Given the description of an element on the screen output the (x, y) to click on. 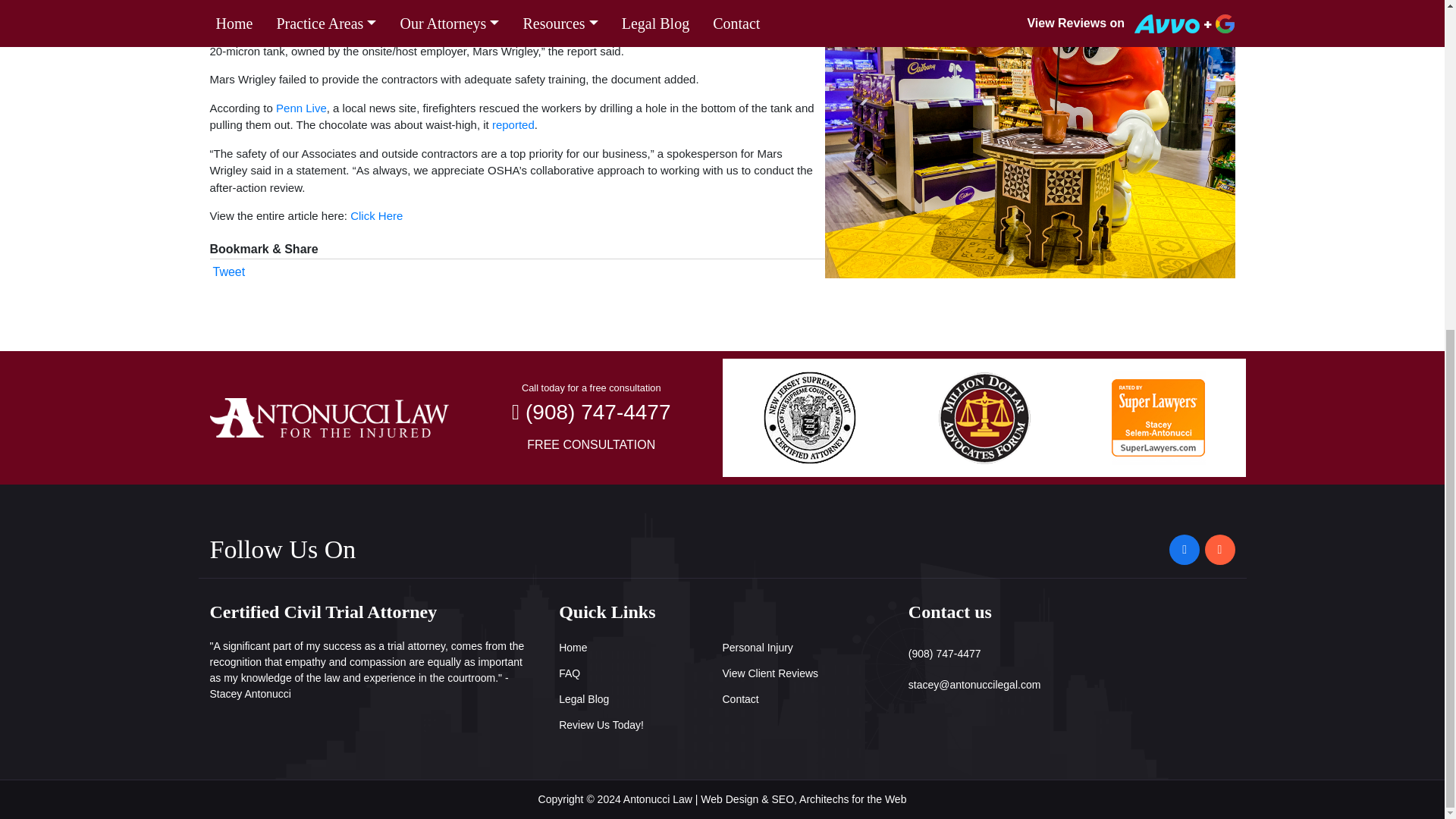
Penn Live (301, 107)
reported (513, 124)
FREE CONSULTATION (590, 444)
Tweet (228, 271)
Click Here (376, 215)
